Given the description of an element on the screen output the (x, y) to click on. 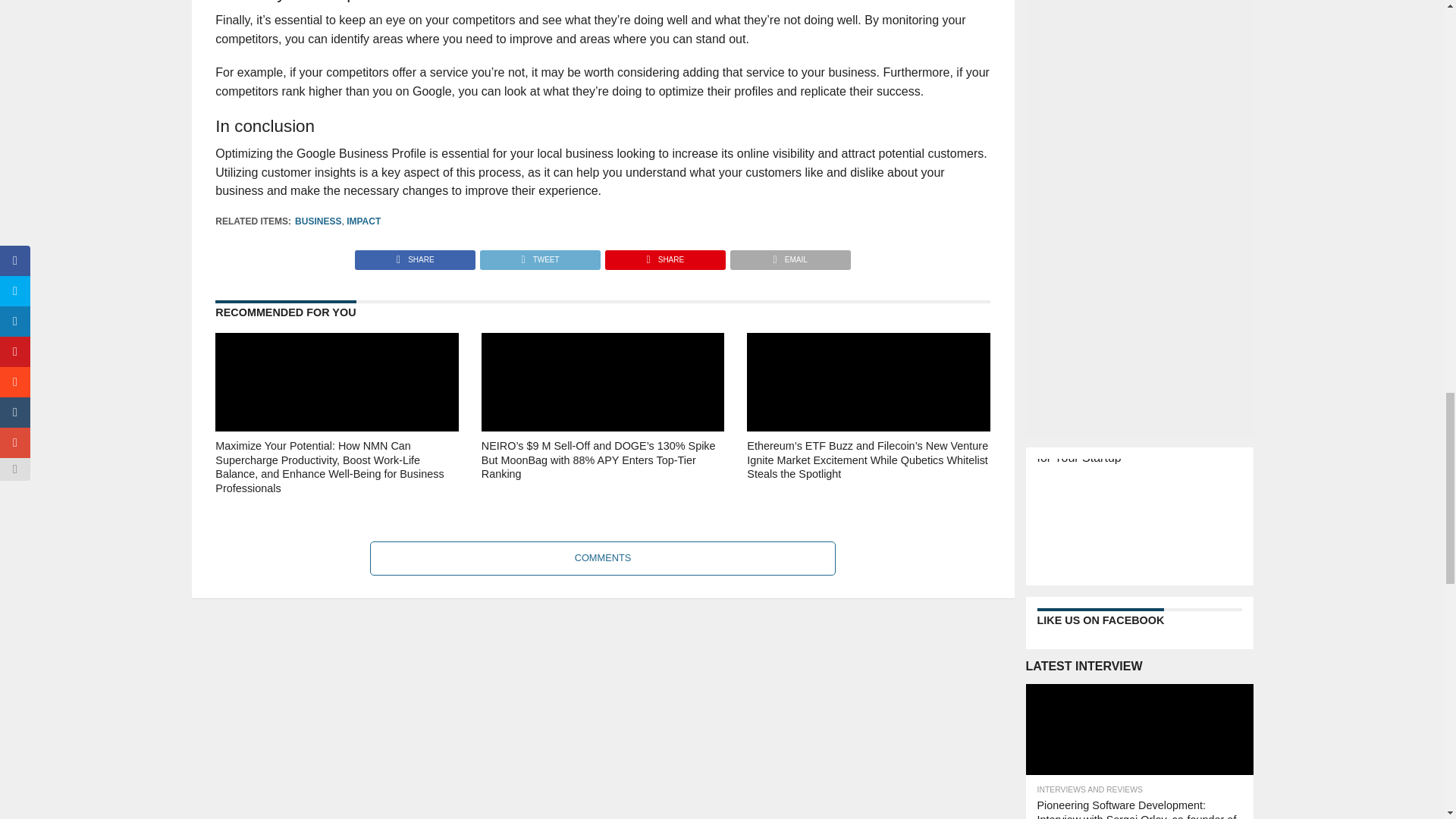
Share on Facebook (415, 255)
Tweet This Post (539, 255)
Pin This Post (664, 255)
